Given the description of an element on the screen output the (x, y) to click on. 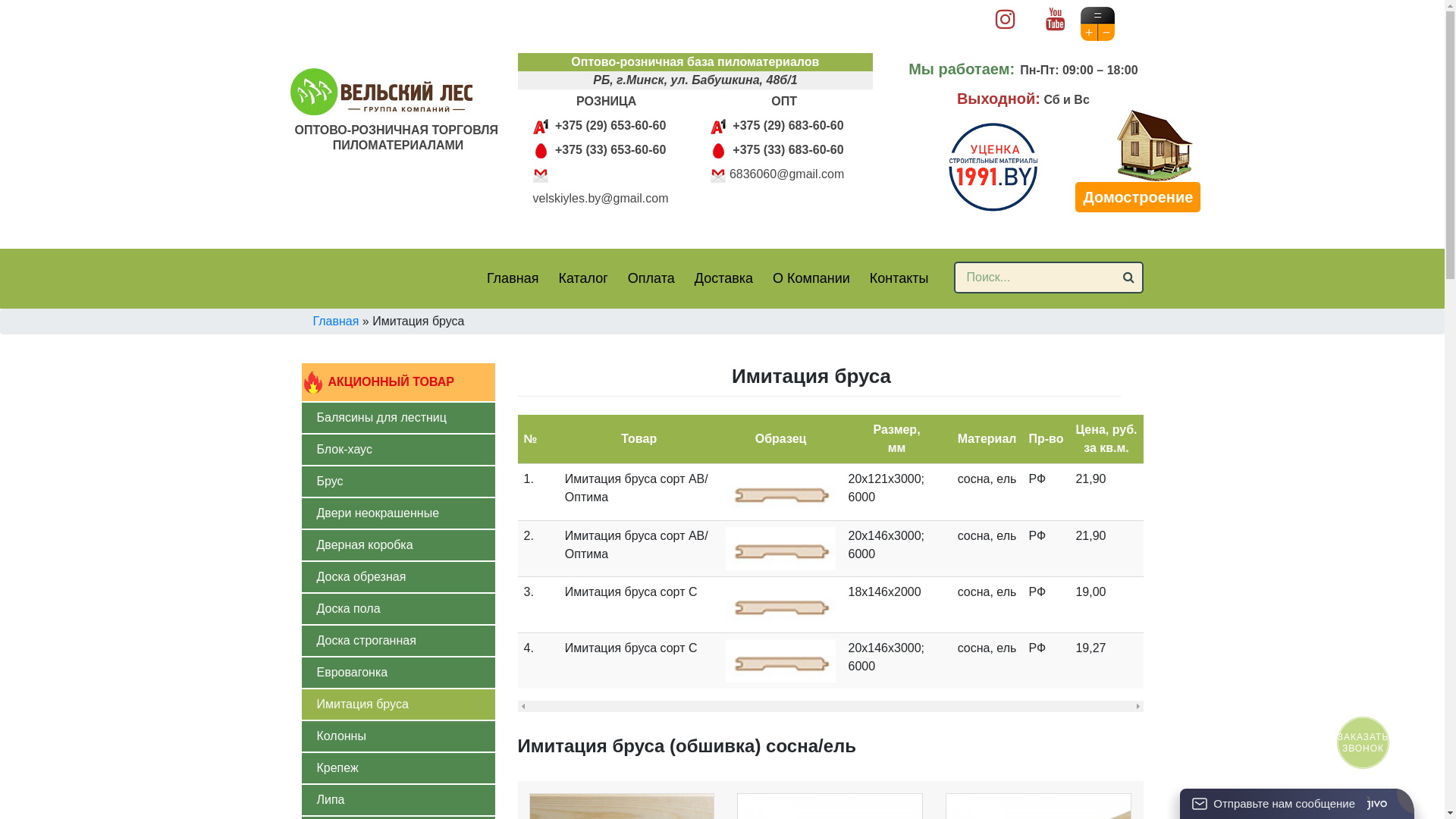
+375 (33) 683-60-60 Element type: text (786, 149)
+375 (33) 653-60-60 Element type: text (609, 149)
+375 (29) 683-60-60 Element type: text (786, 125)
+375 (29) 653-60-60 Element type: text (609, 125)
